Given the description of an element on the screen output the (x, y) to click on. 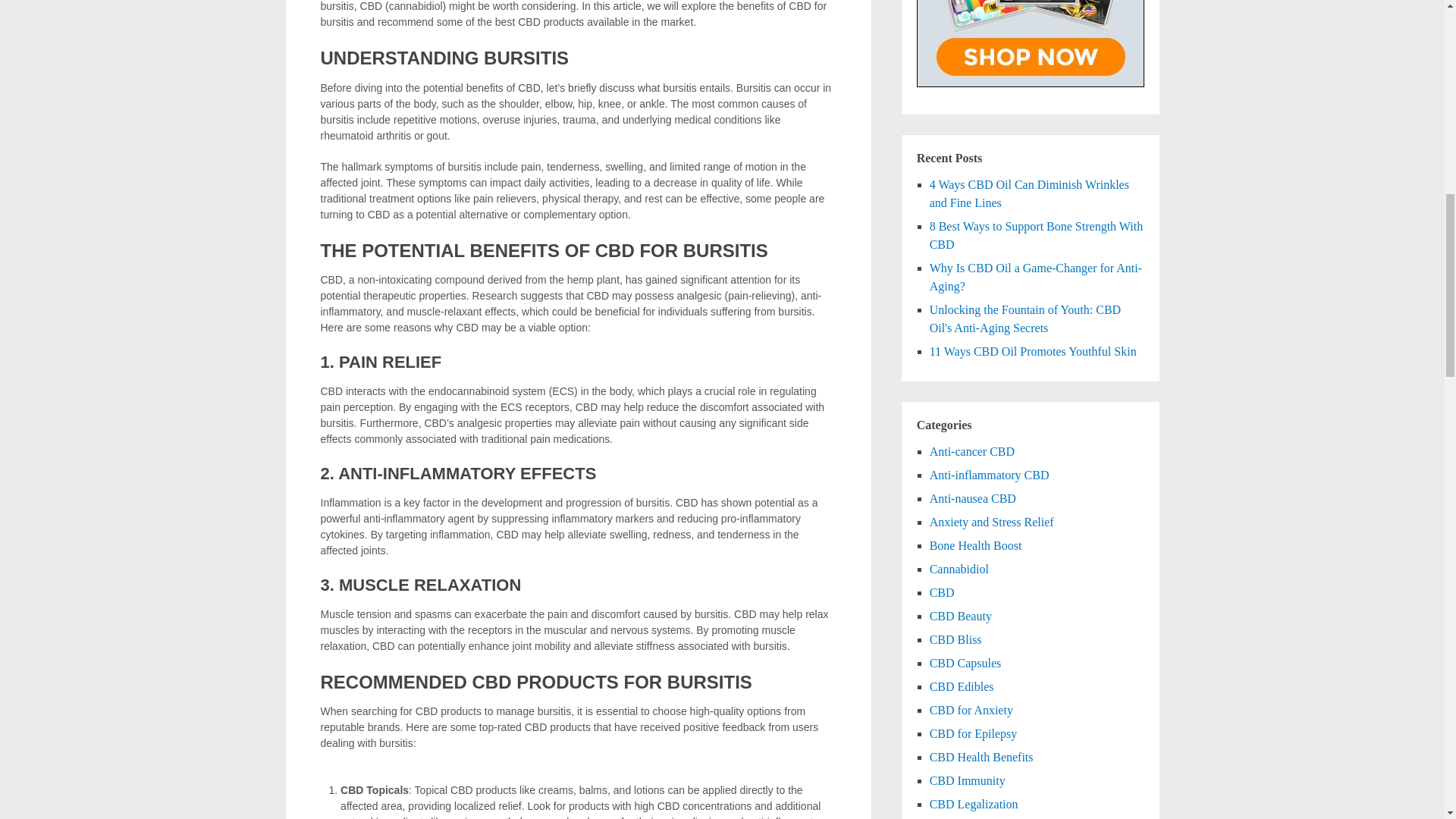
4 Ways CBD Oil Can Diminish Wrinkles and Fine Lines (1029, 193)
11 Ways CBD Oil Promotes Youthful Skin (1033, 350)
Why Is CBD Oil a Game-Changer for Anti-Aging? (1035, 276)
Anti-cancer CBD (972, 451)
8 Best Ways to Support Bone Strength With CBD (1036, 235)
